Given the description of an element on the screen output the (x, y) to click on. 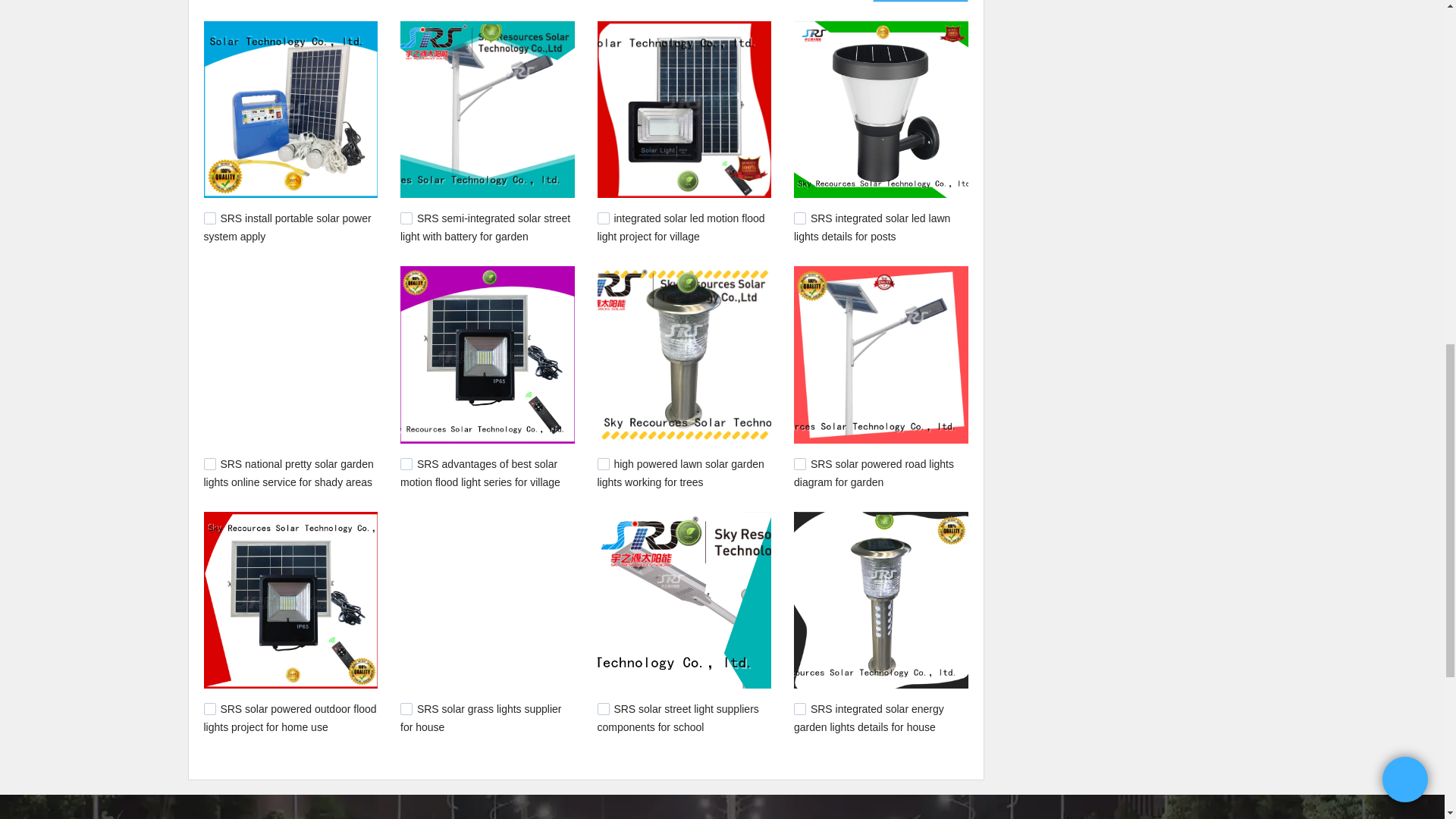
SRS solar powered outdoor flood lights project for home use (289, 717)
SRS install portable solar power system apply (287, 227)
SRS integrated solar led lawn lights details for posts (871, 227)
SRS solar street light suppliers components for school (677, 717)
6101 (209, 218)
4512 (799, 218)
4551 (406, 218)
4545 (603, 218)
2981 (209, 708)
2837 (799, 708)
